Given the description of an element on the screen output the (x, y) to click on. 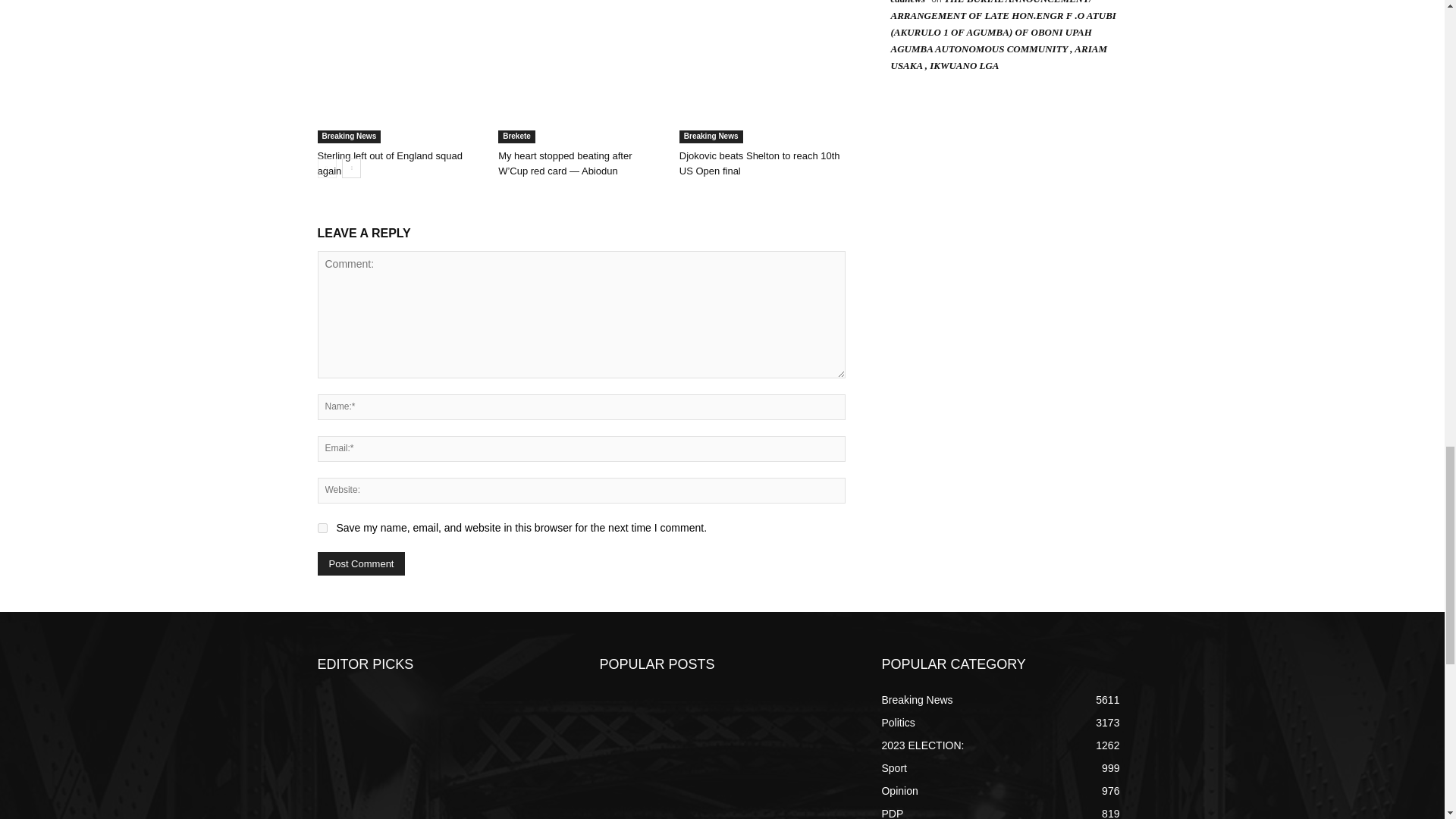
Post Comment (360, 563)
yes (321, 528)
